Given the description of an element on the screen output the (x, y) to click on. 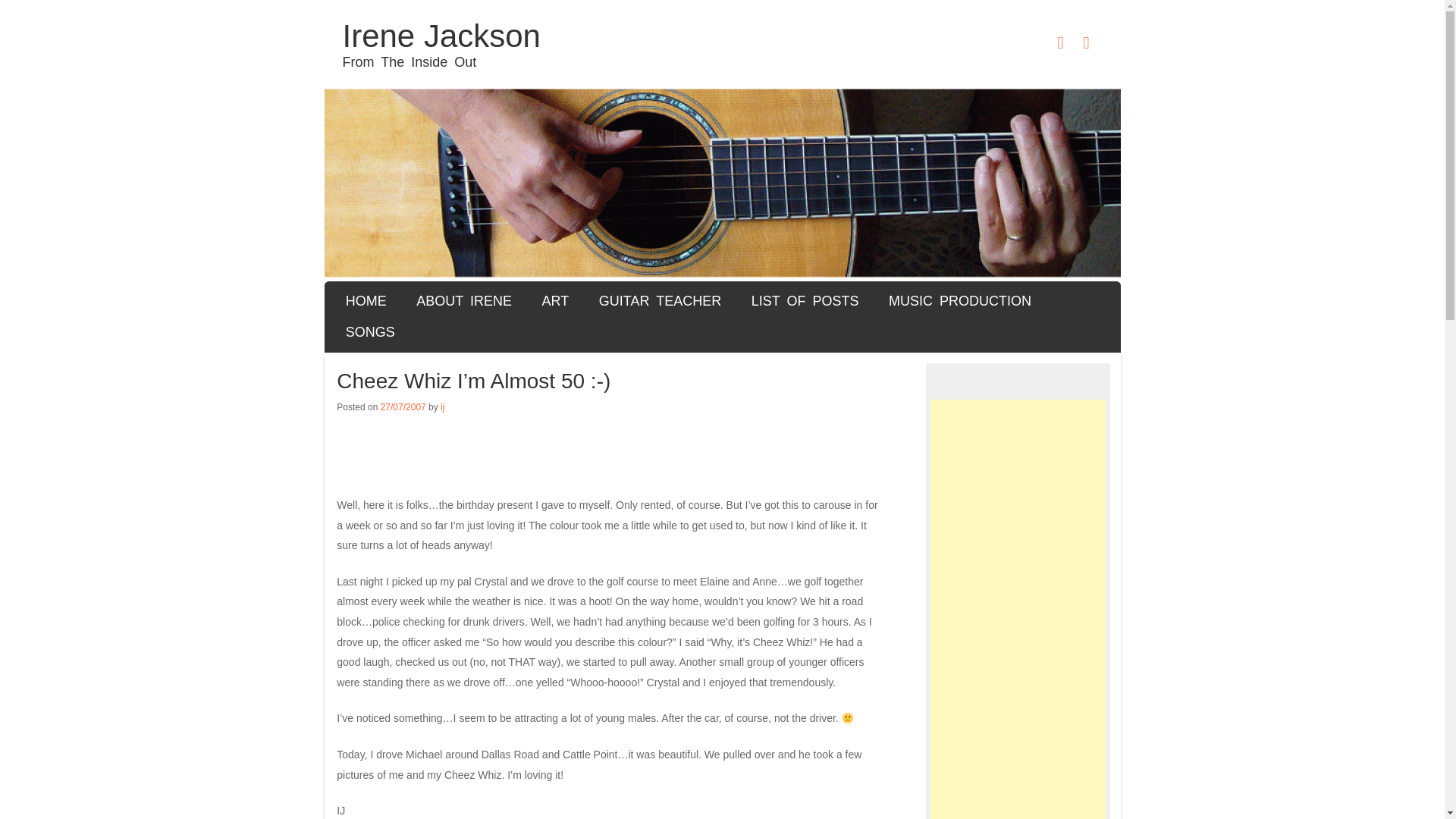
ART (555, 300)
Irene Jackson (441, 36)
12:29 am (403, 407)
Skip to content (397, 296)
Irene Jackson (441, 36)
SONGS (370, 332)
HOME (365, 300)
ABOUT IRENE (463, 300)
MUSIC PRODUCTION (959, 300)
